Given the description of an element on the screen output the (x, y) to click on. 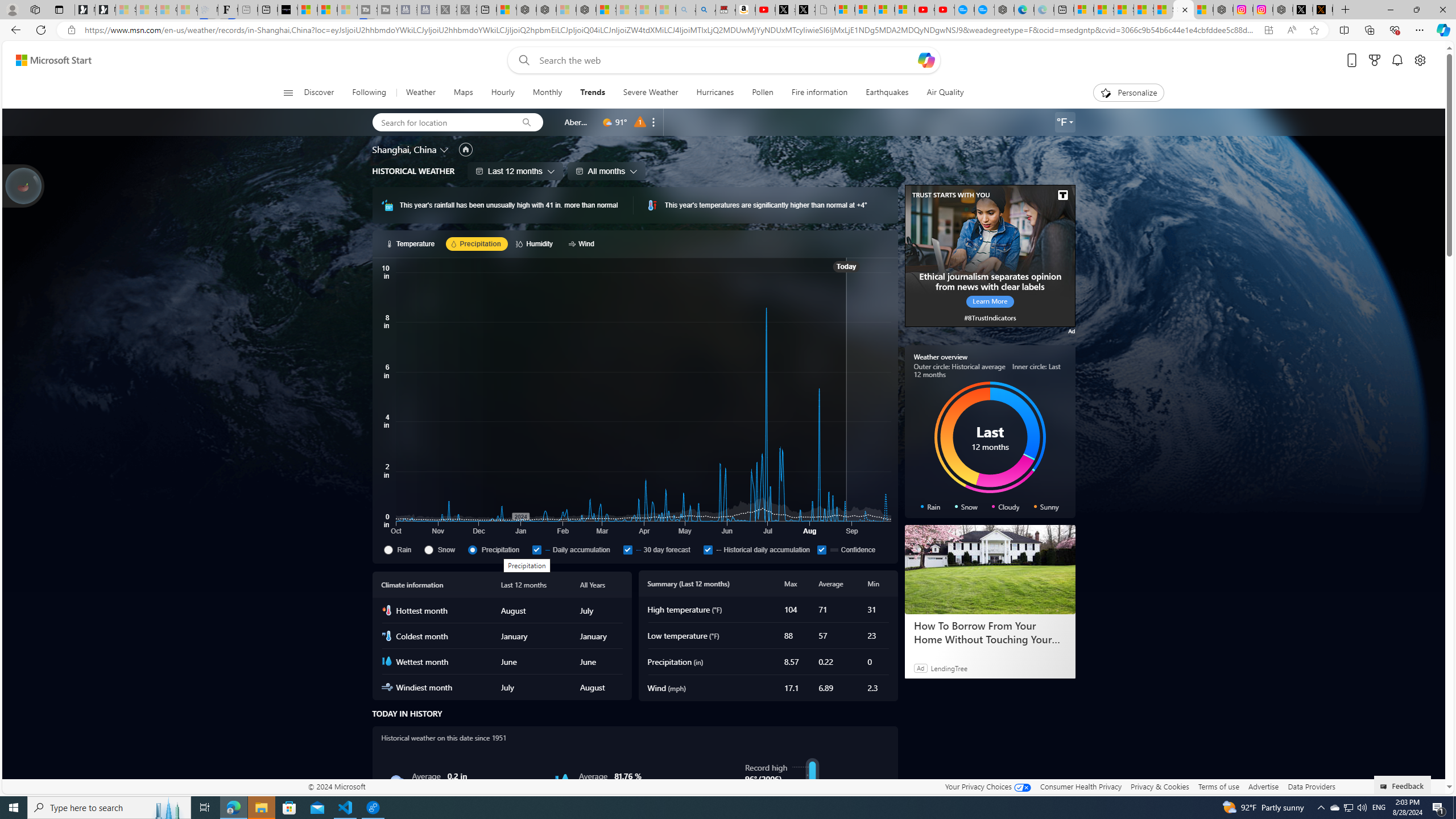
Consumer Health Privacy (1080, 785)
Hurricanes (714, 92)
Aberdeen (576, 121)
Join us in planting real trees to help our planet! (23, 184)
Consumer Health Privacy (1080, 786)
Monthly (547, 92)
Shanghai, China Weather trends | Microsoft Weather (1183, 9)
Rain (401, 549)
Class: feedback_link_icon-DS-EntryPoint1-1 (1384, 786)
